Given the description of an element on the screen output the (x, y) to click on. 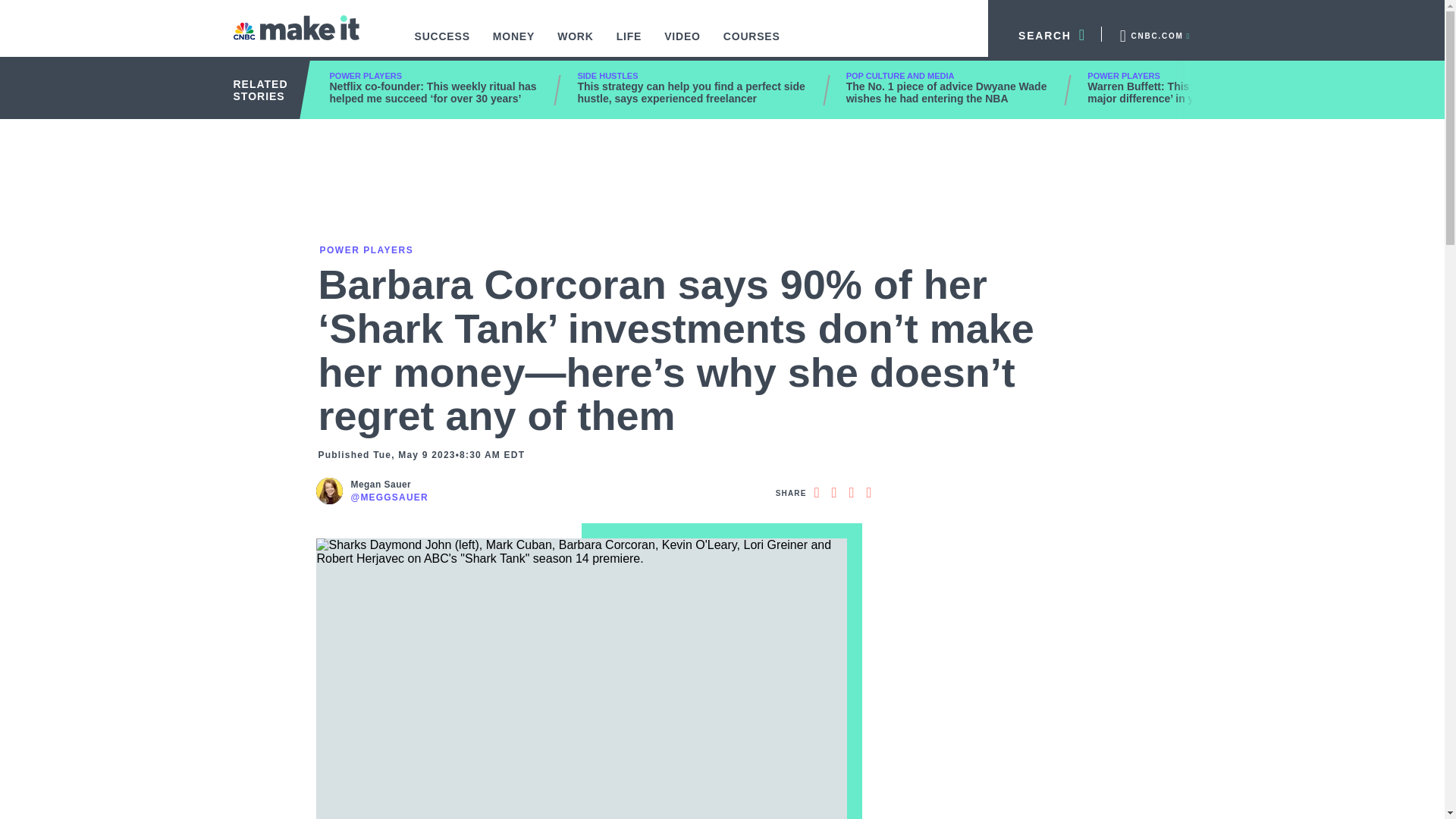
CNBC.COM (1153, 33)
COURSES (751, 44)
WORK (575, 44)
SEARCH (1045, 33)
LIFE (629, 44)
MONEY (513, 44)
VIDEO (681, 44)
SUCCESS (442, 44)
